Given the description of an element on the screen output the (x, y) to click on. 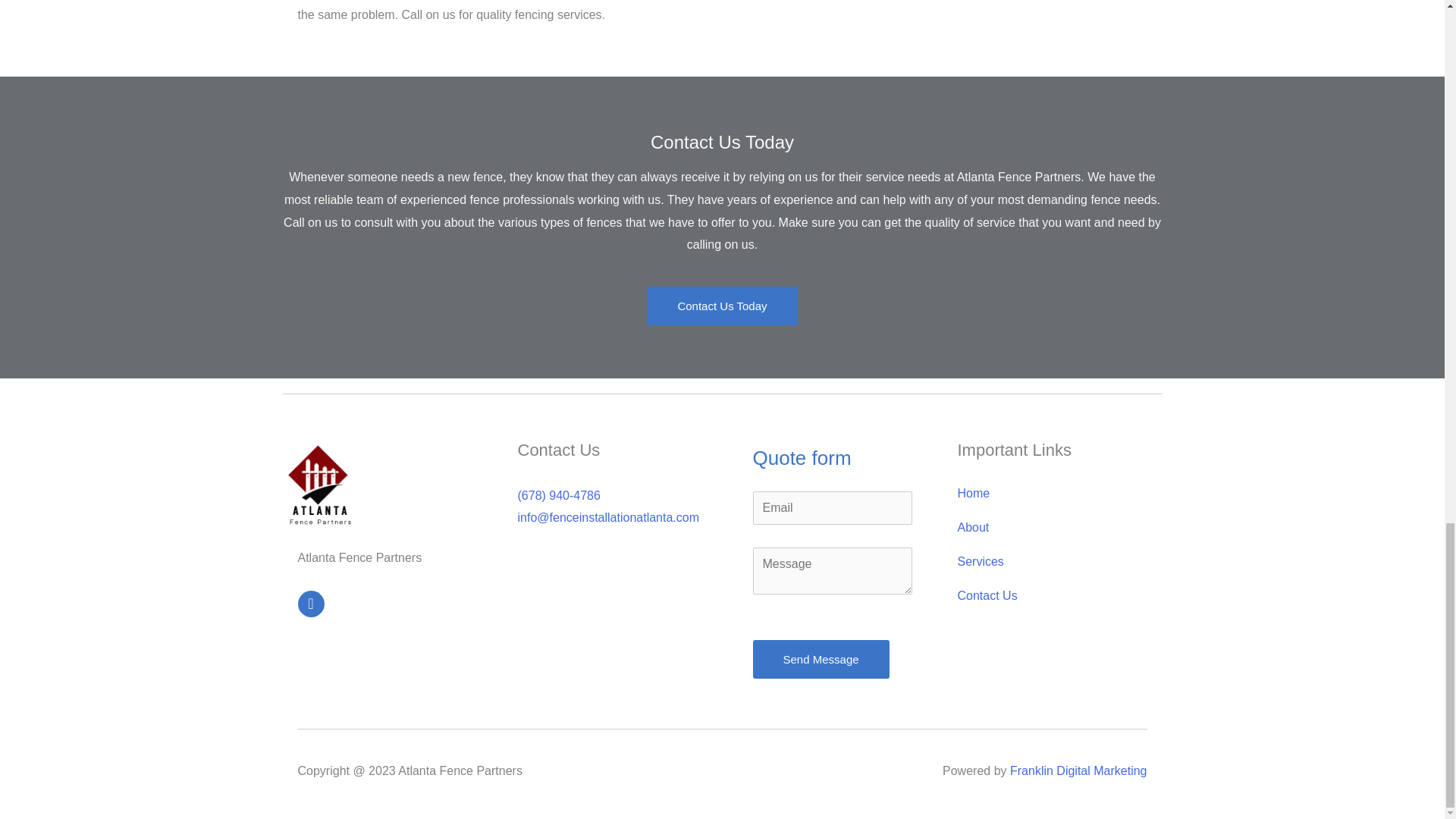
About (1046, 527)
Contact Us (1046, 595)
Send Message (820, 658)
Home (1046, 493)
Services (1046, 561)
Franklin Digital Marketing (1078, 770)
Contact Us Today (721, 305)
Click Here (721, 305)
